Given the description of an element on the screen output the (x, y) to click on. 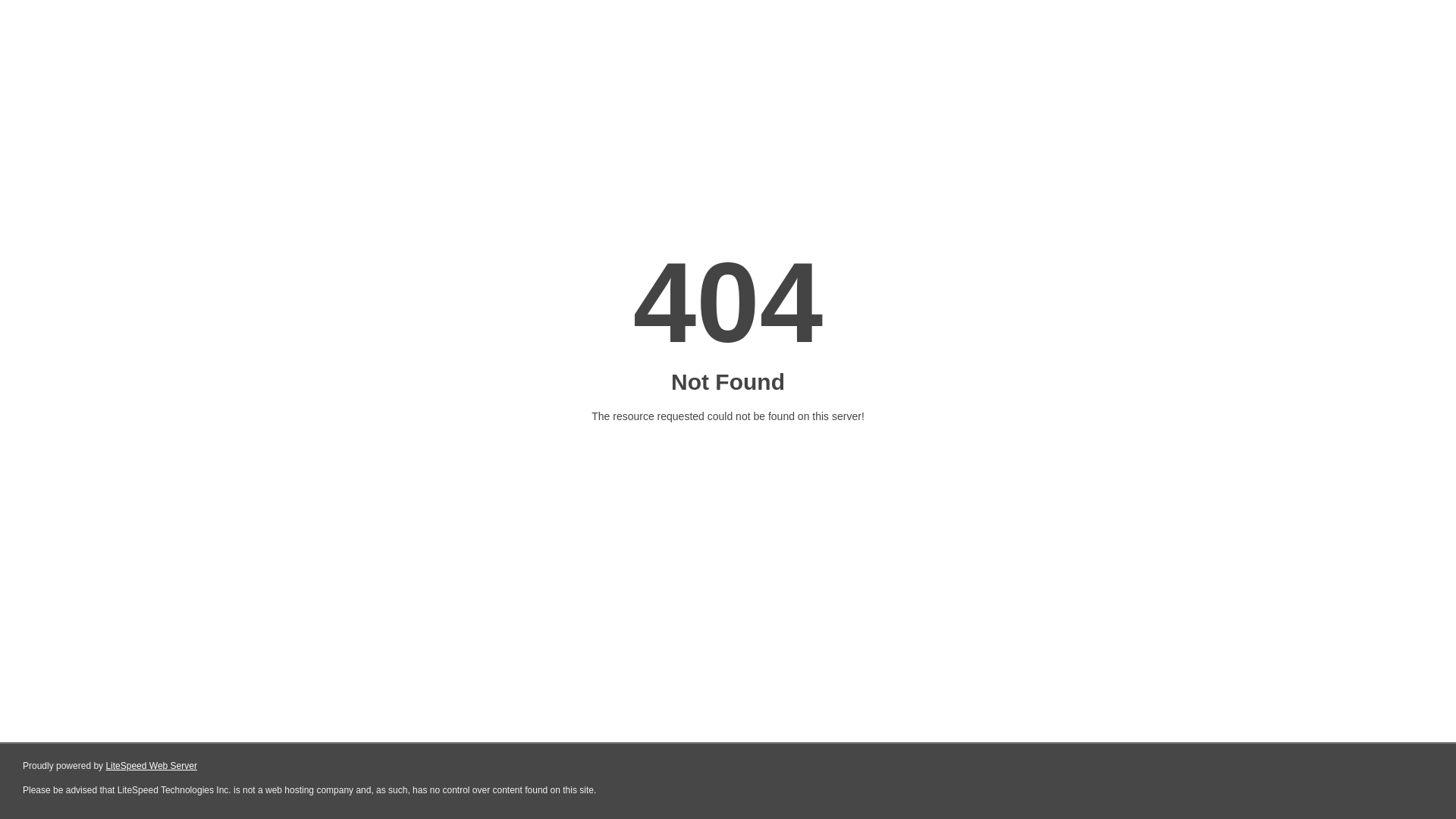
LiteSpeed Web Server Element type: text (151, 765)
